Given the description of an element on the screen output the (x, y) to click on. 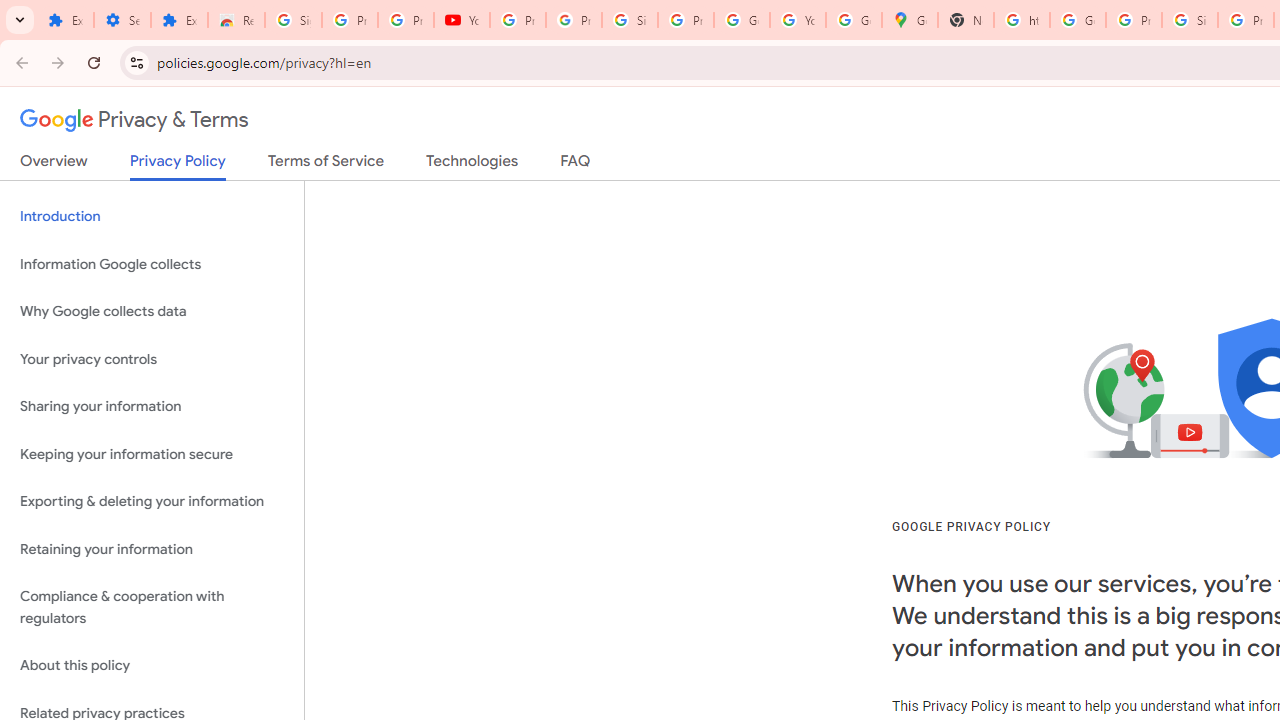
New Tab (966, 20)
Overview (54, 165)
Settings (122, 20)
Retaining your information (152, 548)
Technologies (472, 165)
Sign in - Google Accounts (629, 20)
Google Maps (909, 20)
Terms of Service (326, 165)
Reviews: Helix Fruit Jump Arcade Game (235, 20)
Privacy & Terms (134, 120)
Google Account (742, 20)
Sign in - Google Accounts (293, 20)
